Given the description of an element on the screen output the (x, y) to click on. 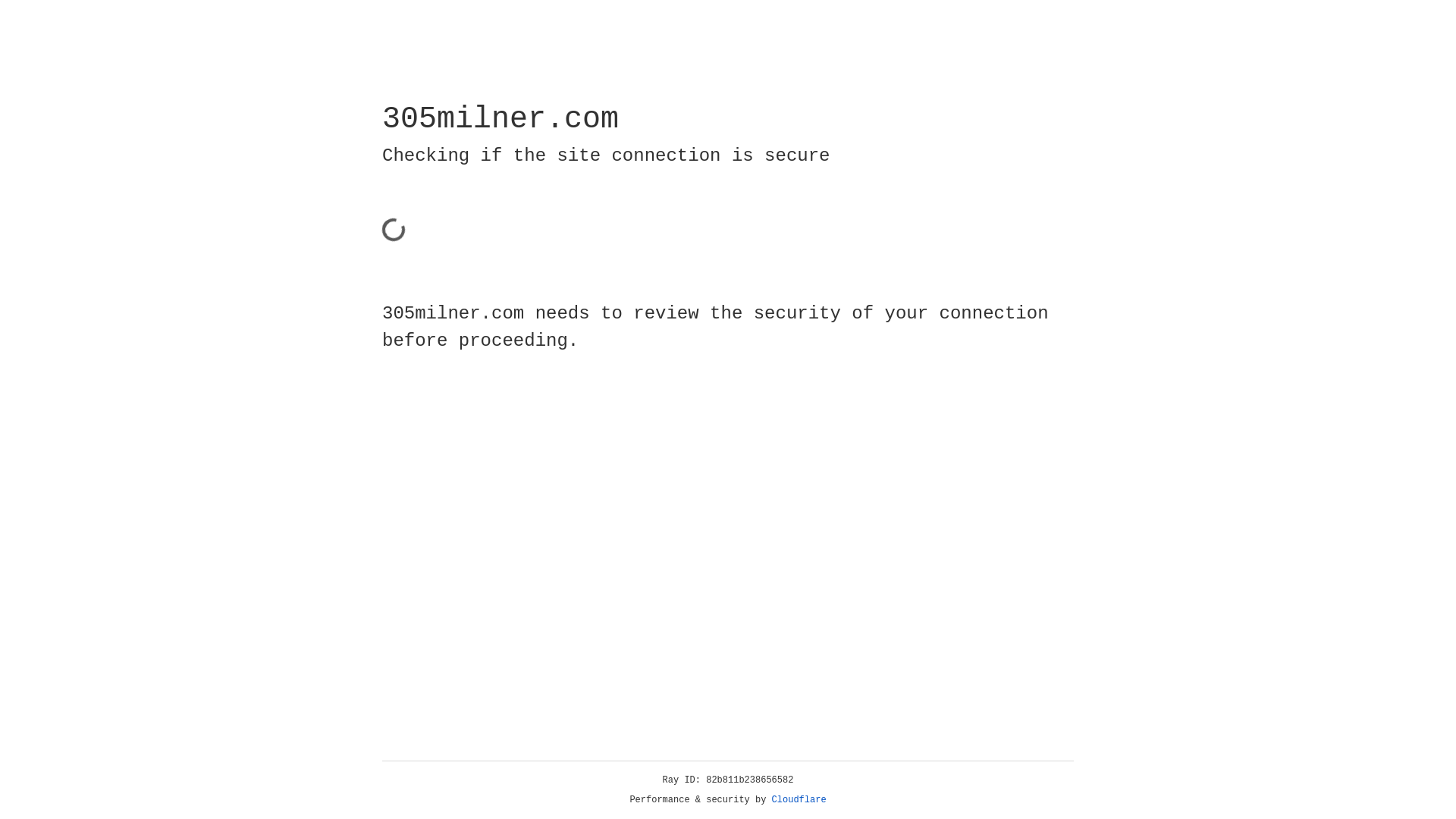
Cloudflare Element type: text (798, 799)
